Given the description of an element on the screen output the (x, y) to click on. 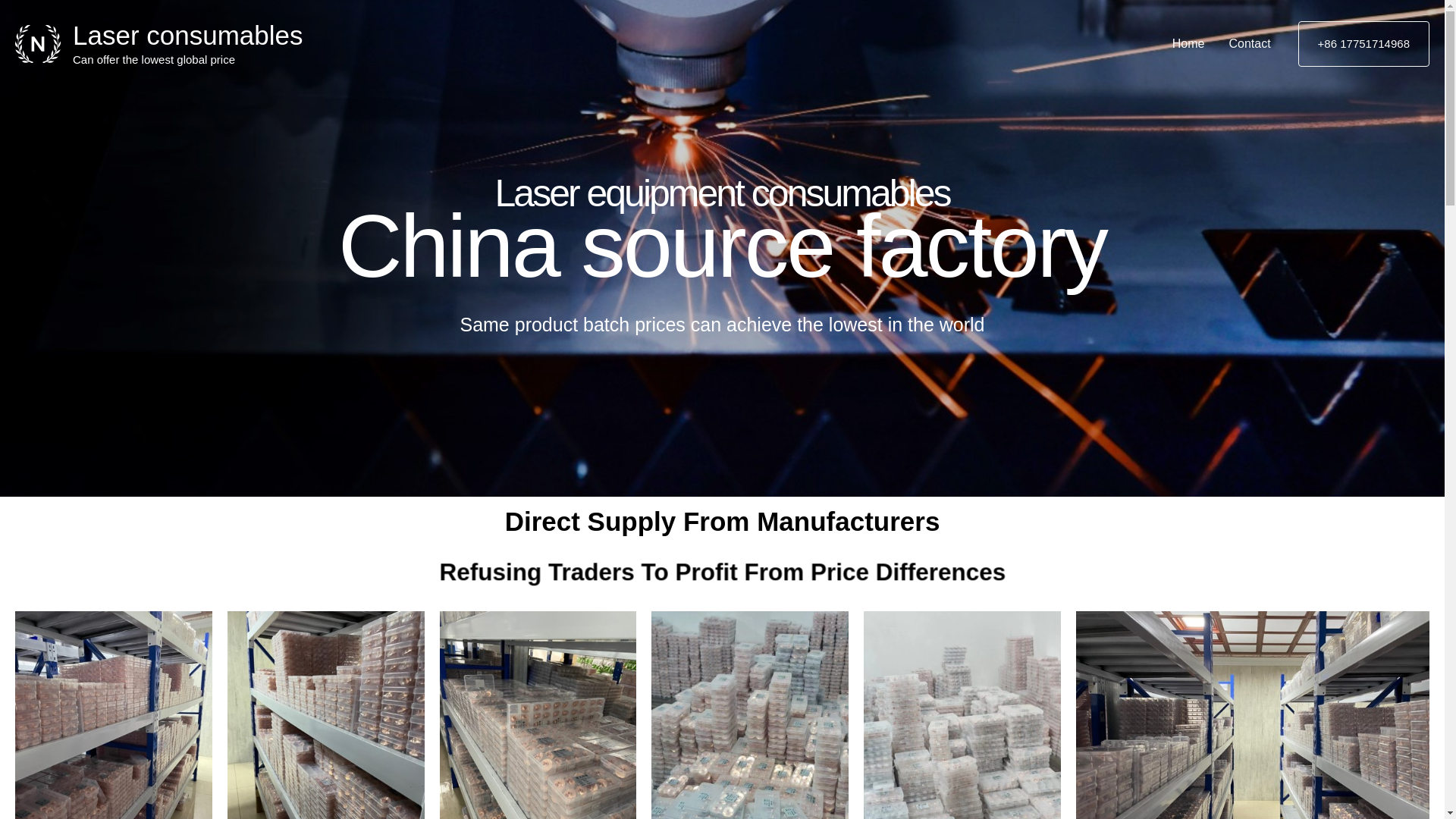
Laser consumables (187, 34)
Contact (1248, 43)
Home (1188, 43)
